Given the description of an element on the screen output the (x, y) to click on. 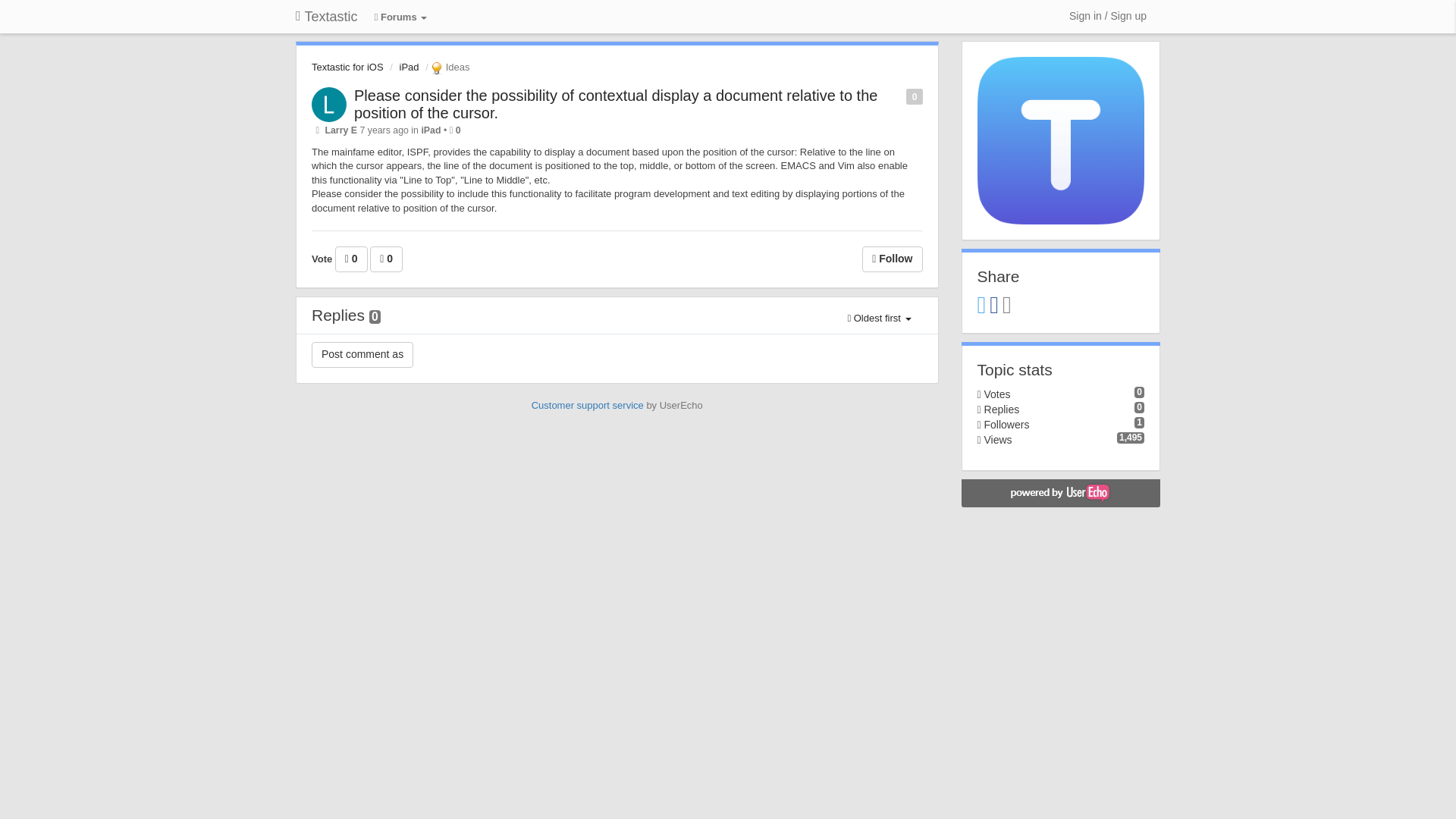
iPad (408, 66)
Forums (400, 17)
Oldest first (878, 318)
Textastic for iOS (347, 66)
Post comment as (362, 354)
Follow (891, 258)
0 (351, 258)
Ideas (448, 66)
0 (386, 258)
Textastic (326, 16)
Larry E (340, 130)
Post comment as (362, 354)
Customer support service (587, 405)
